Given the description of an element on the screen output the (x, y) to click on. 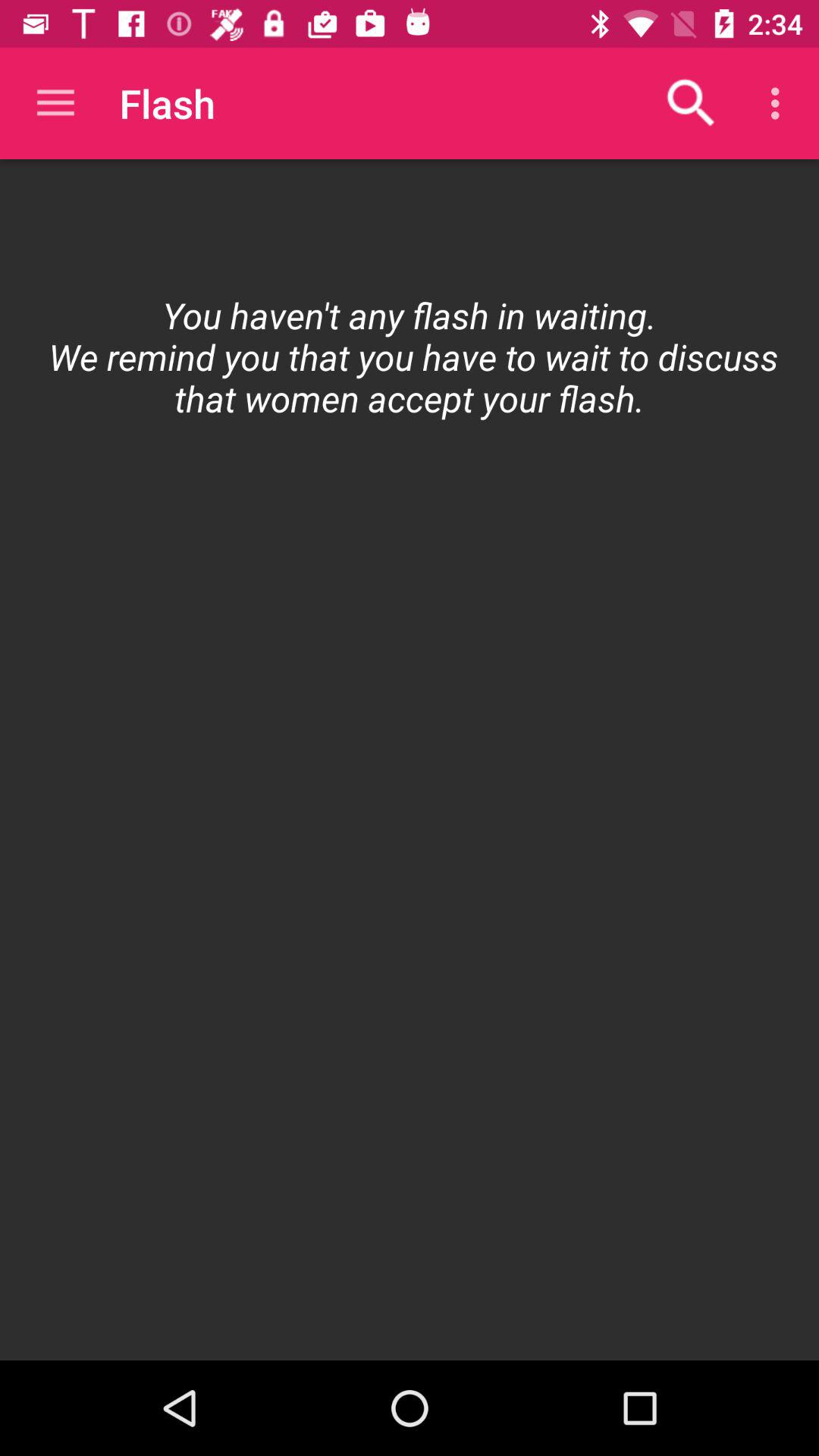
select icon above the   item (779, 103)
